Given the description of an element on the screen output the (x, y) to click on. 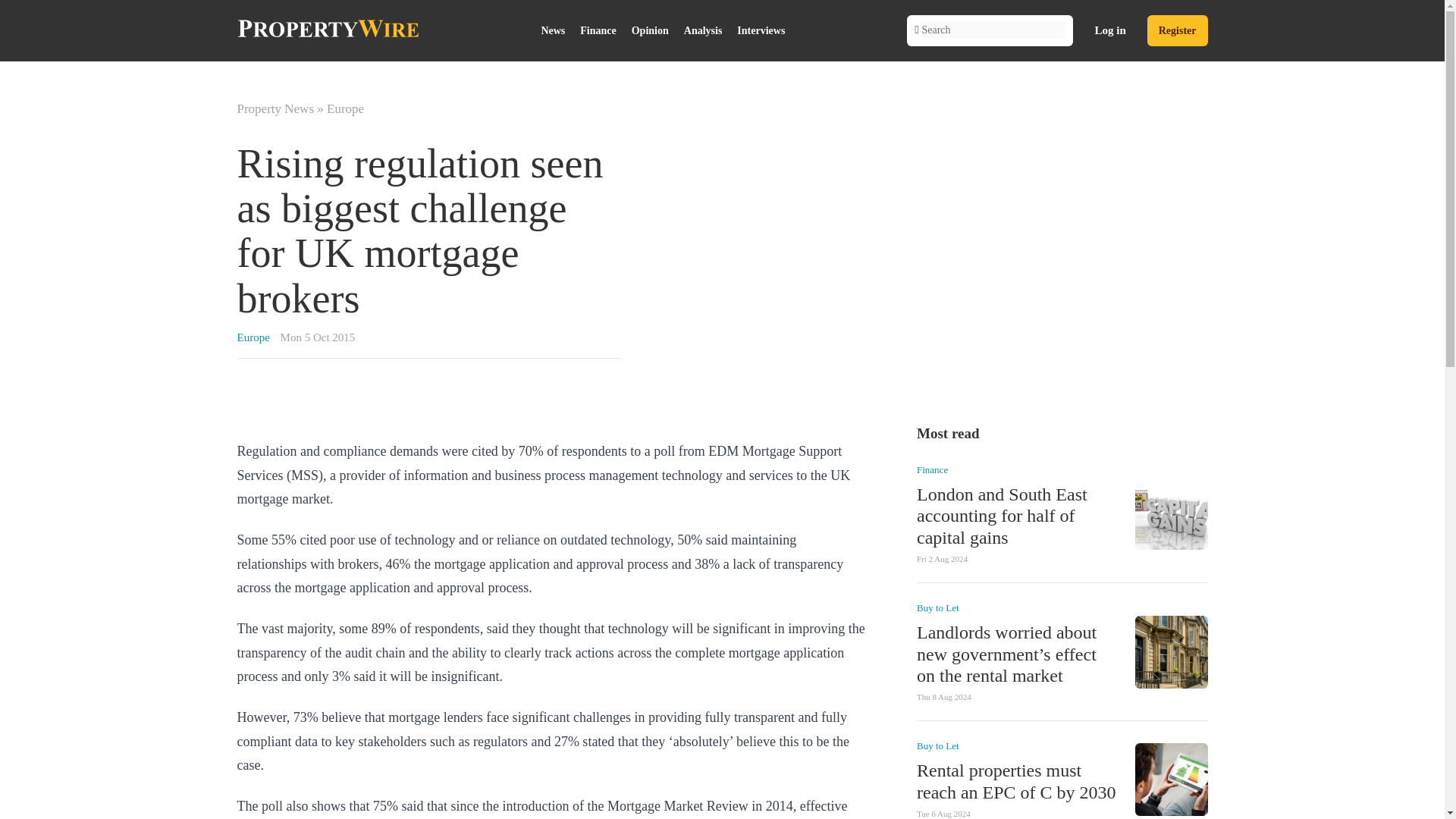
Opinion (650, 30)
Finance (931, 469)
London and South East accounting for half of capital gains (1000, 515)
Log in (1109, 30)
Search for: (993, 29)
Buy to Let (936, 745)
Europe (252, 337)
Register (1177, 30)
Finance (597, 30)
Analysis (703, 30)
